Given the description of an element on the screen output the (x, y) to click on. 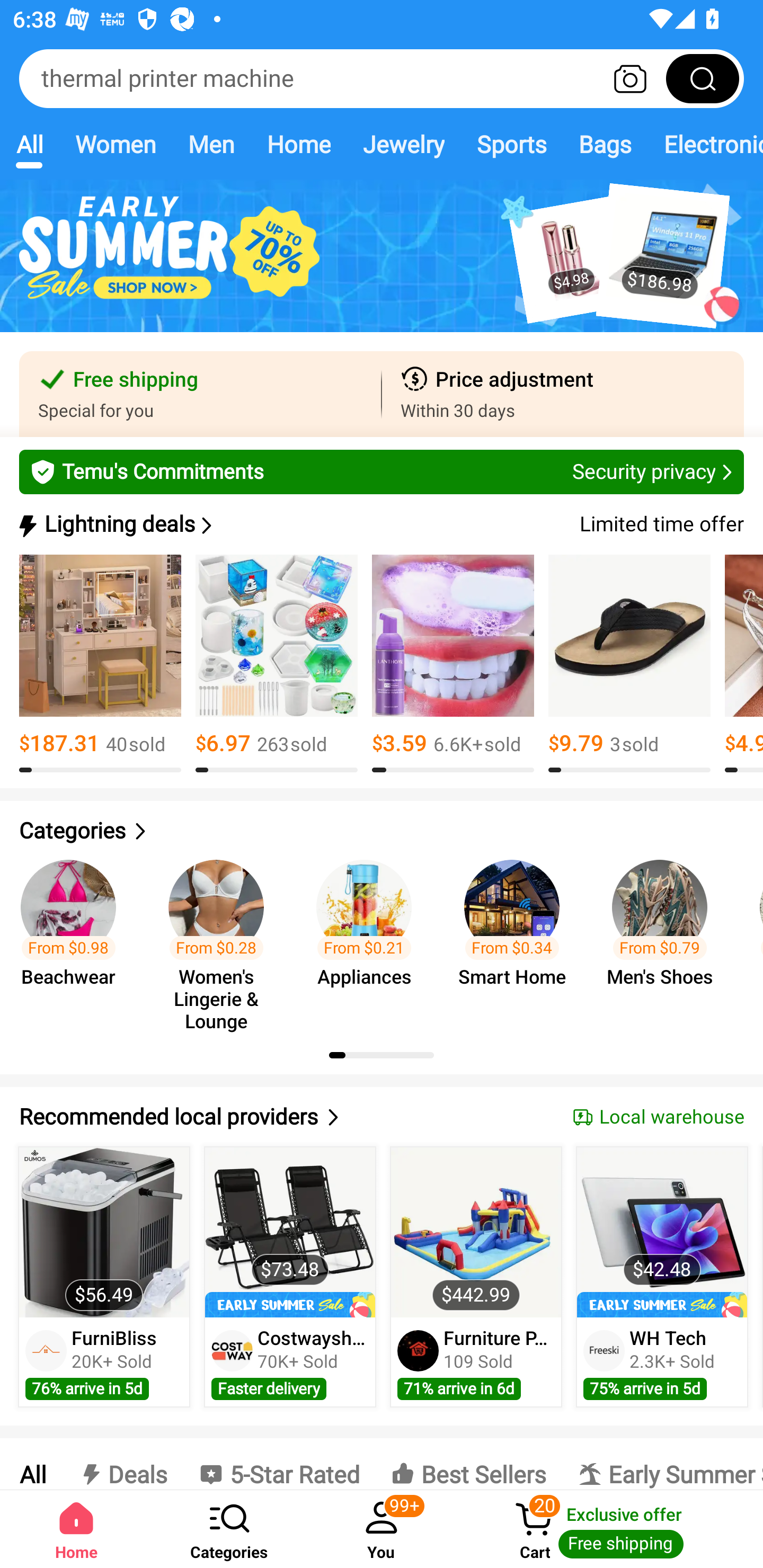
thermal printer machine (381, 78)
All (29, 144)
Women (115, 144)
Men (211, 144)
Home (298, 144)
Jewelry (403, 144)
Sports (511, 144)
Bags (605, 144)
Electronics (705, 144)
$4.98 $186.98 (381, 265)
Free shipping Special for you (200, 394)
Price adjustment Within 30 days (562, 394)
Temu's Commitments (381, 471)
Lightning deals Lightning deals Limited time offer (379, 524)
$187.31 40￼sold 8.0 (100, 664)
$6.97 263￼sold 8.0 (276, 664)
$3.59 6.6K+￼sold 9.0 (453, 664)
$9.79 3￼sold 8.0 (629, 664)
Categories (381, 830)
From $0.98 Beachwear (74, 936)
From $0.28 Women's Lingerie & Lounge (222, 936)
From $0.21 Appliances (369, 936)
From $0.34 Smart Home (517, 936)
From $0.79 Men's Shoes (665, 936)
$56.49 FurniBliss 20K+ Sold 76% arrive in 5d (103, 1276)
$73.48 Costwayshop 70K+ Sold Faster delivery (289, 1276)
$42.48 WH Tech 2.3K+ Sold 75% arrive in 5d (661, 1276)
$56.49 (104, 1232)
$73.48 (290, 1232)
$442.99 (475, 1232)
$42.48 (661, 1232)
All (32, 1463)
Deals Deals Deals (122, 1463)
5-Star Rated 5-Star Rated 5-Star Rated (279, 1463)
Best Sellers Best Sellers Best Sellers (468, 1463)
Home (76, 1528)
Categories (228, 1528)
You ‎99+‎ You (381, 1528)
Cart 20 Cart Exclusive offer (610, 1528)
